Given the description of an element on the screen output the (x, y) to click on. 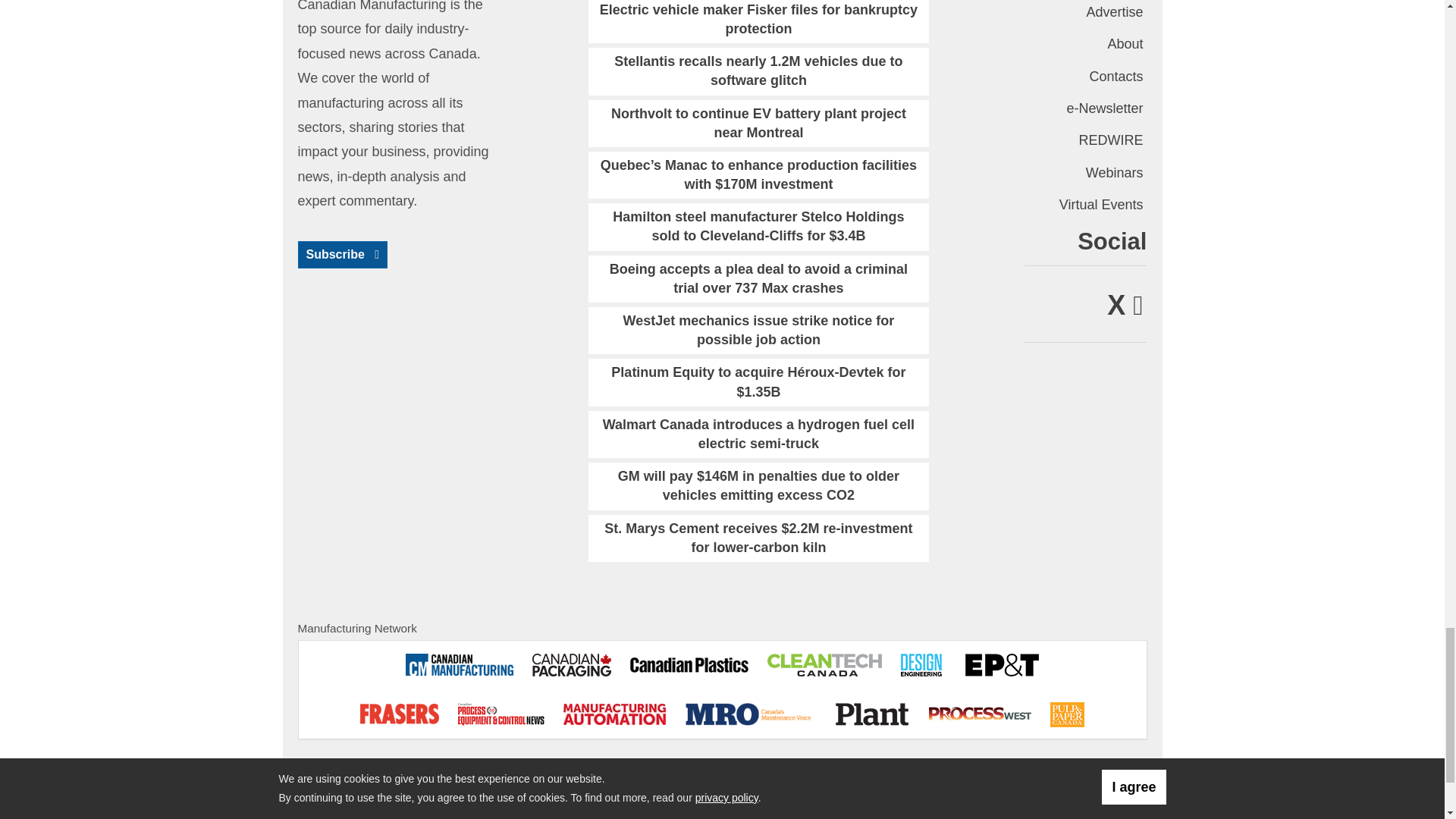
scroll to top (685, 775)
Annex Business Media (1077, 775)
